Given the description of an element on the screen output the (x, y) to click on. 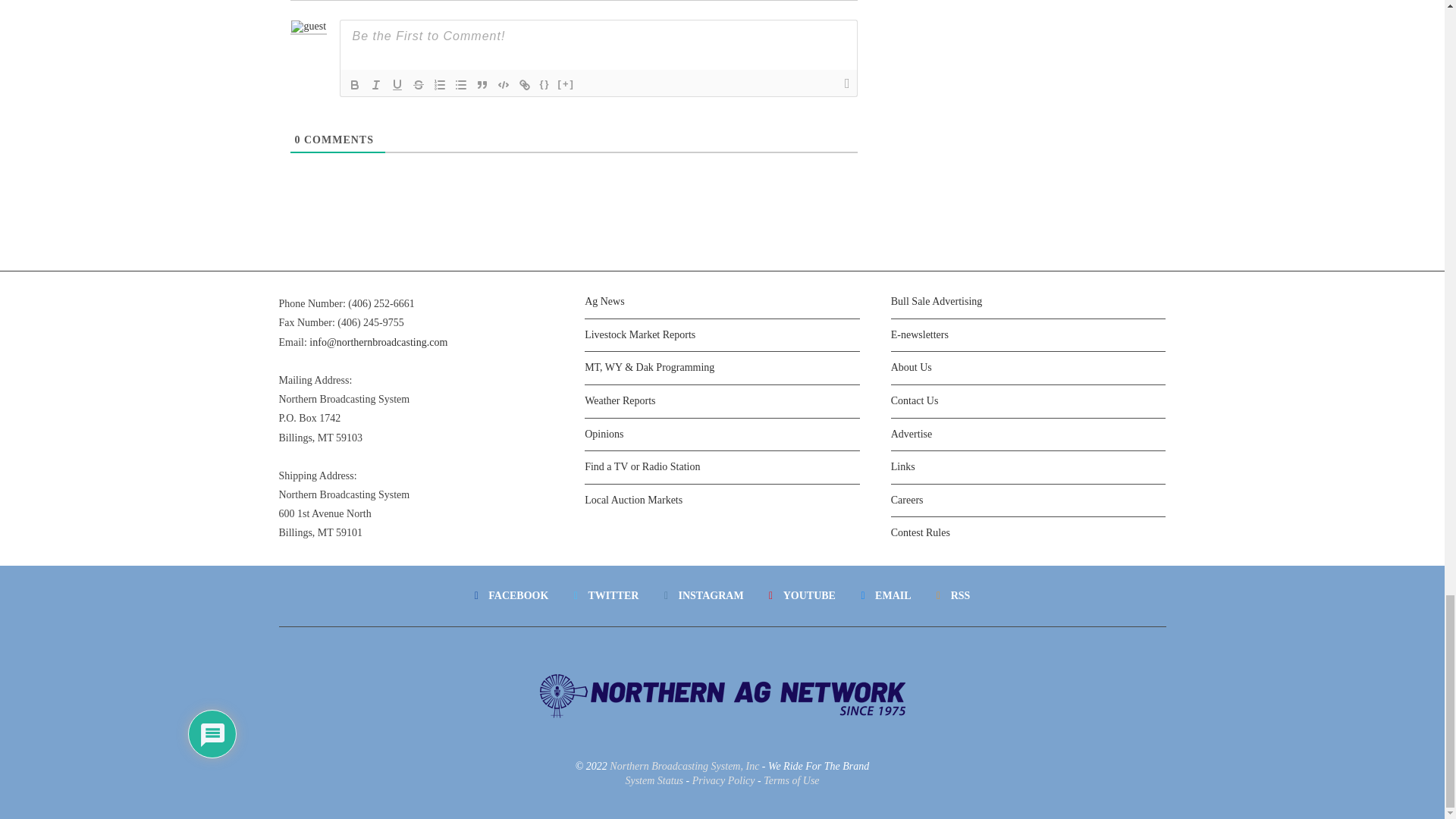
Code Block (503, 85)
Bold (354, 85)
Link (524, 85)
Spoiler (566, 85)
Ordered List (439, 85)
Blockquote (482, 85)
Strike (418, 85)
Underline (397, 85)
Unordered List (460, 85)
Source Code (544, 85)
Italic (376, 85)
